Given the description of an element on the screen output the (x, y) to click on. 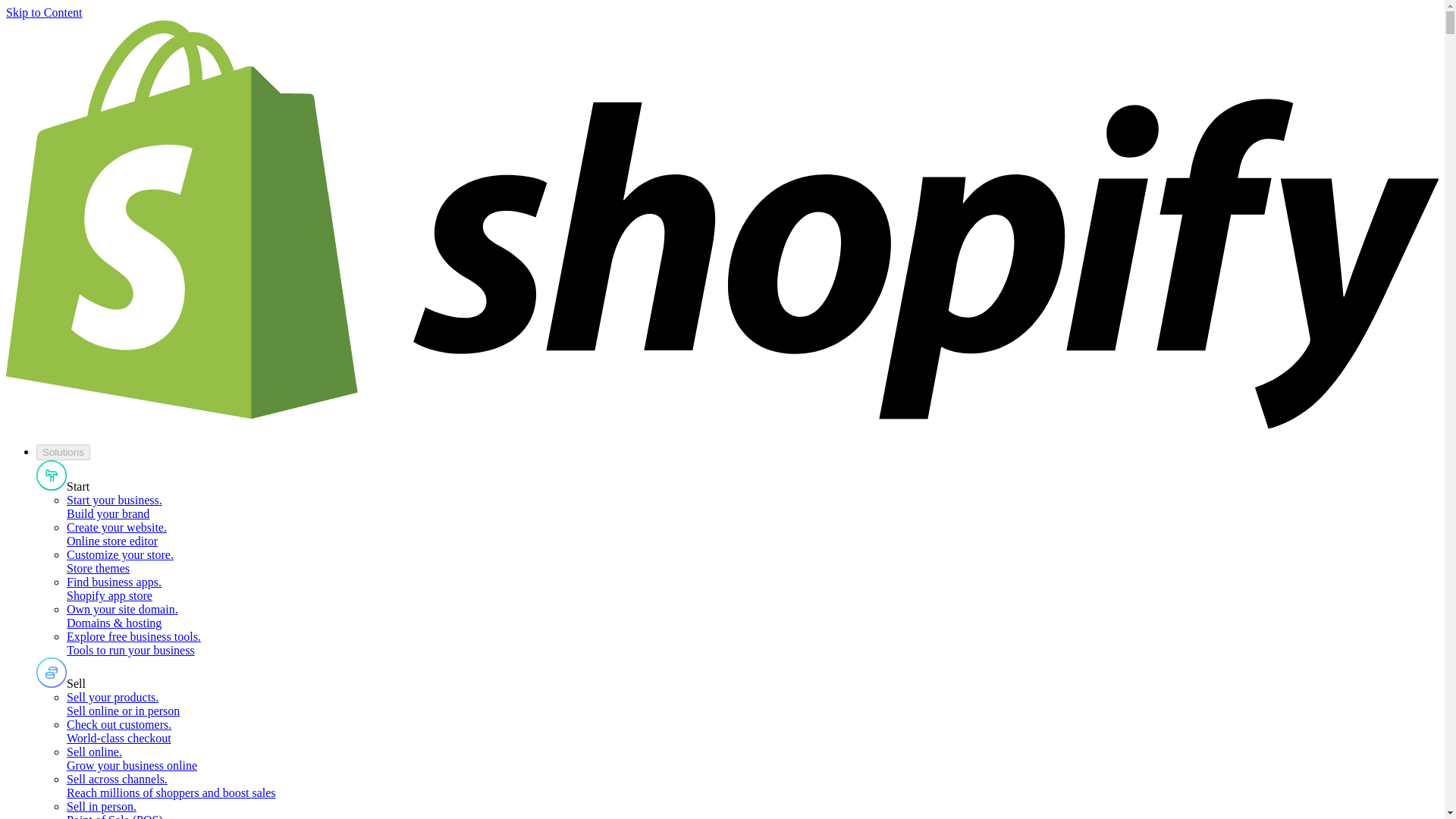
Solutions (63, 452)
Skip to Content (43, 11)
